Given the description of an element on the screen output the (x, y) to click on. 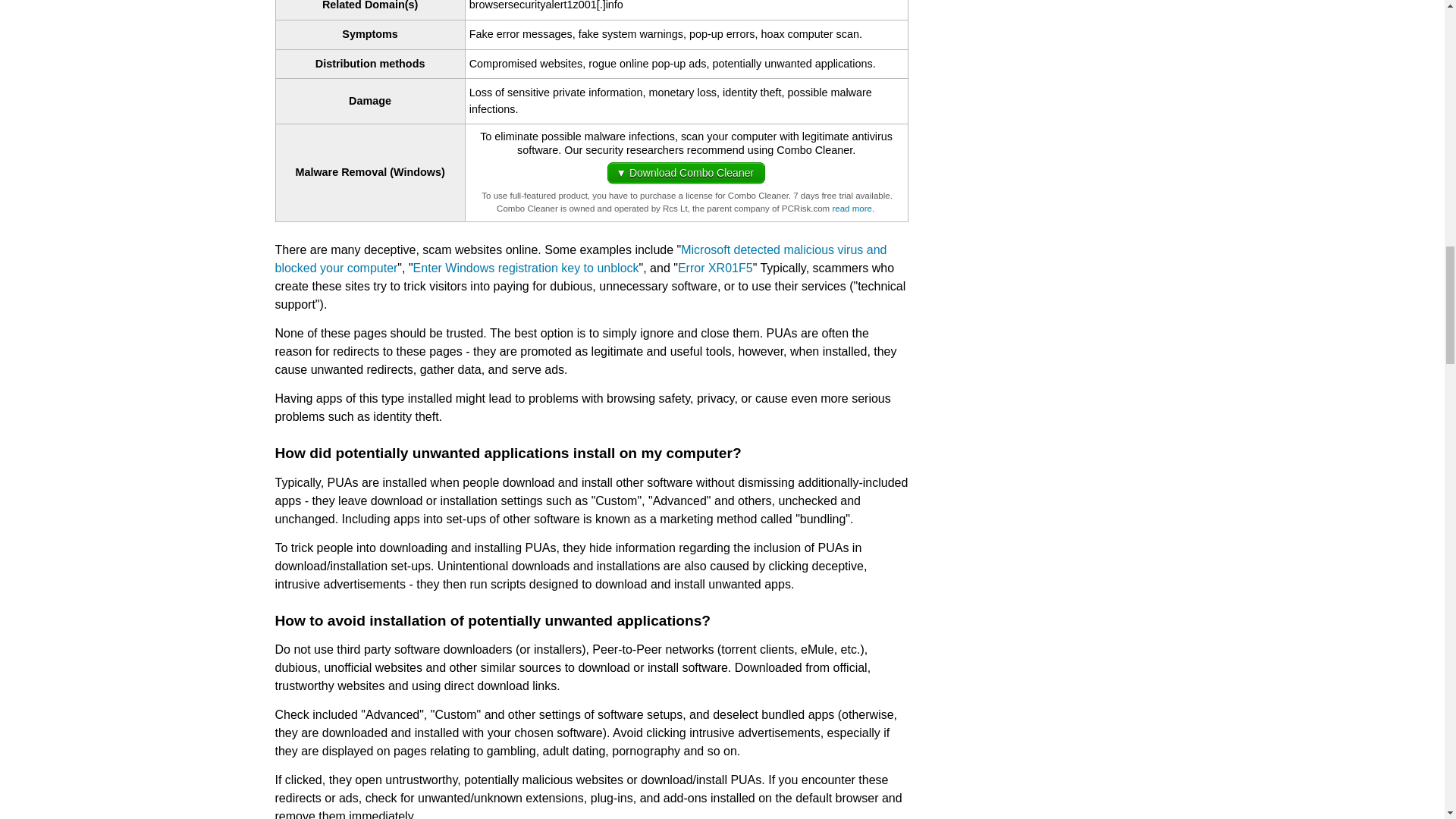
Read more about us (850, 207)
Error XR01F5 (715, 267)
Microsoft detected malicious virus and blocked your computer (580, 258)
Enter Windows registration key to unblock (526, 267)
read more (850, 207)
